Given the description of an element on the screen output the (x, y) to click on. 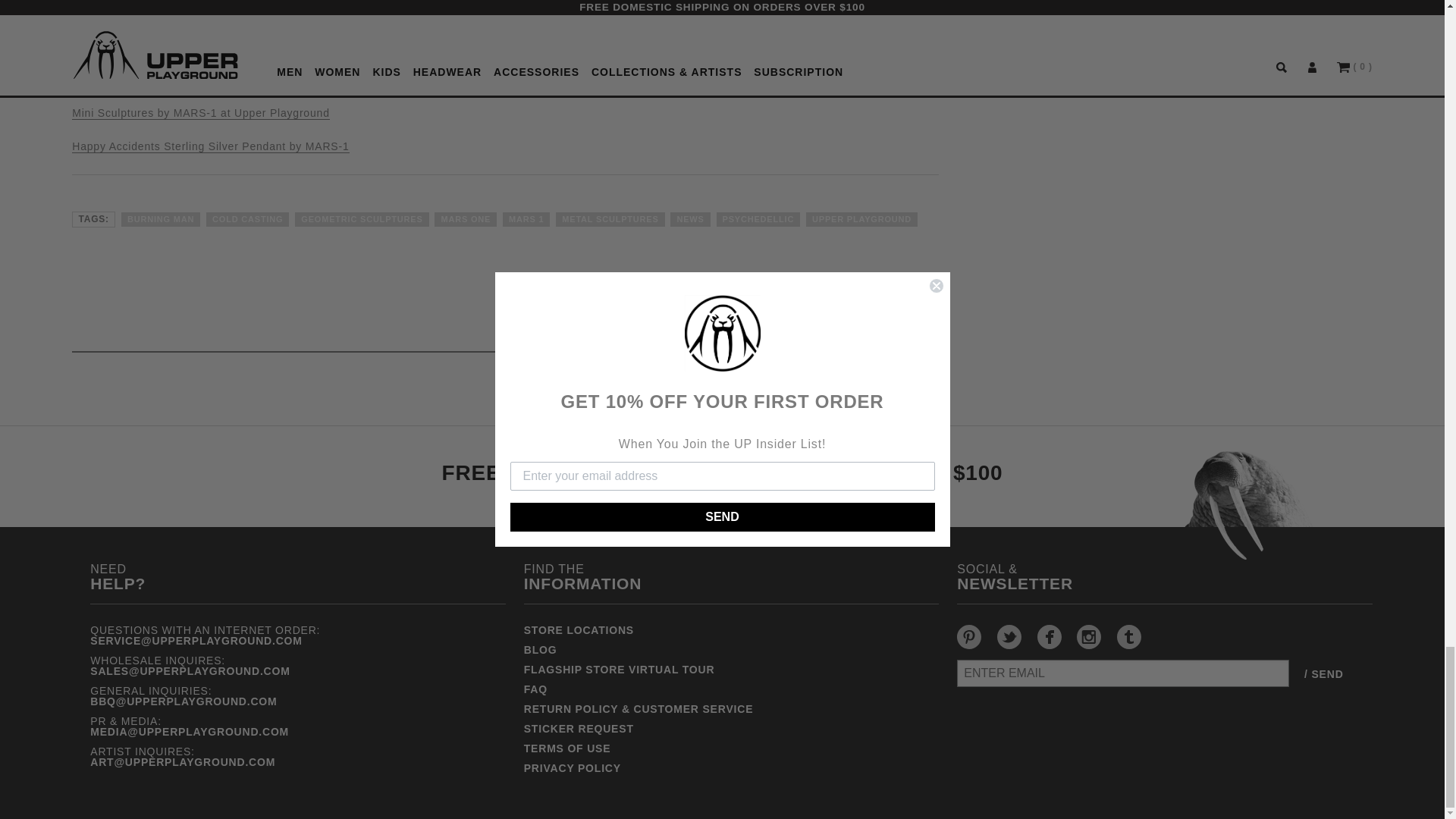
Permalink to Mini Sculptures by MARS-1 at Upper Playground (200, 113)
